Given the description of an element on the screen output the (x, y) to click on. 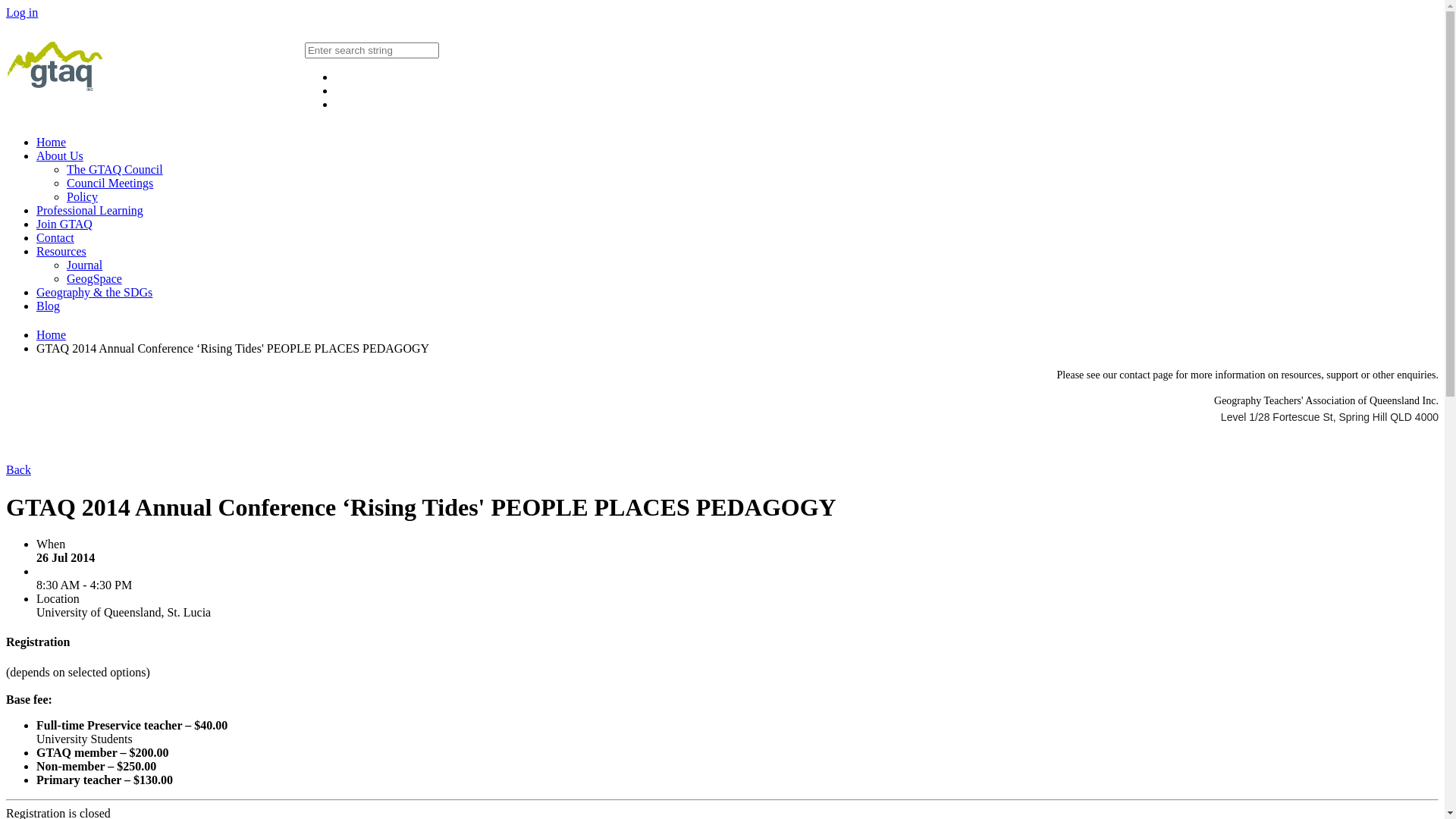
Blog Element type: text (47, 305)
About Us Element type: text (59, 155)
Back Element type: text (18, 469)
Resources Element type: text (61, 250)
Log in Element type: text (21, 12)
Professional Learning Element type: text (89, 209)
Contact Element type: text (55, 237)
Geography & the SDGs Element type: text (94, 291)
The GTAQ Council Element type: text (114, 169)
Home Element type: text (50, 141)
GeogSpace Element type: text (94, 278)
Home Element type: text (50, 334)
Council Meetings Element type: text (109, 182)
Policy Element type: text (81, 196)
Join GTAQ Element type: text (64, 223)
Journal Element type: text (84, 264)
